Given the description of an element on the screen output the (x, y) to click on. 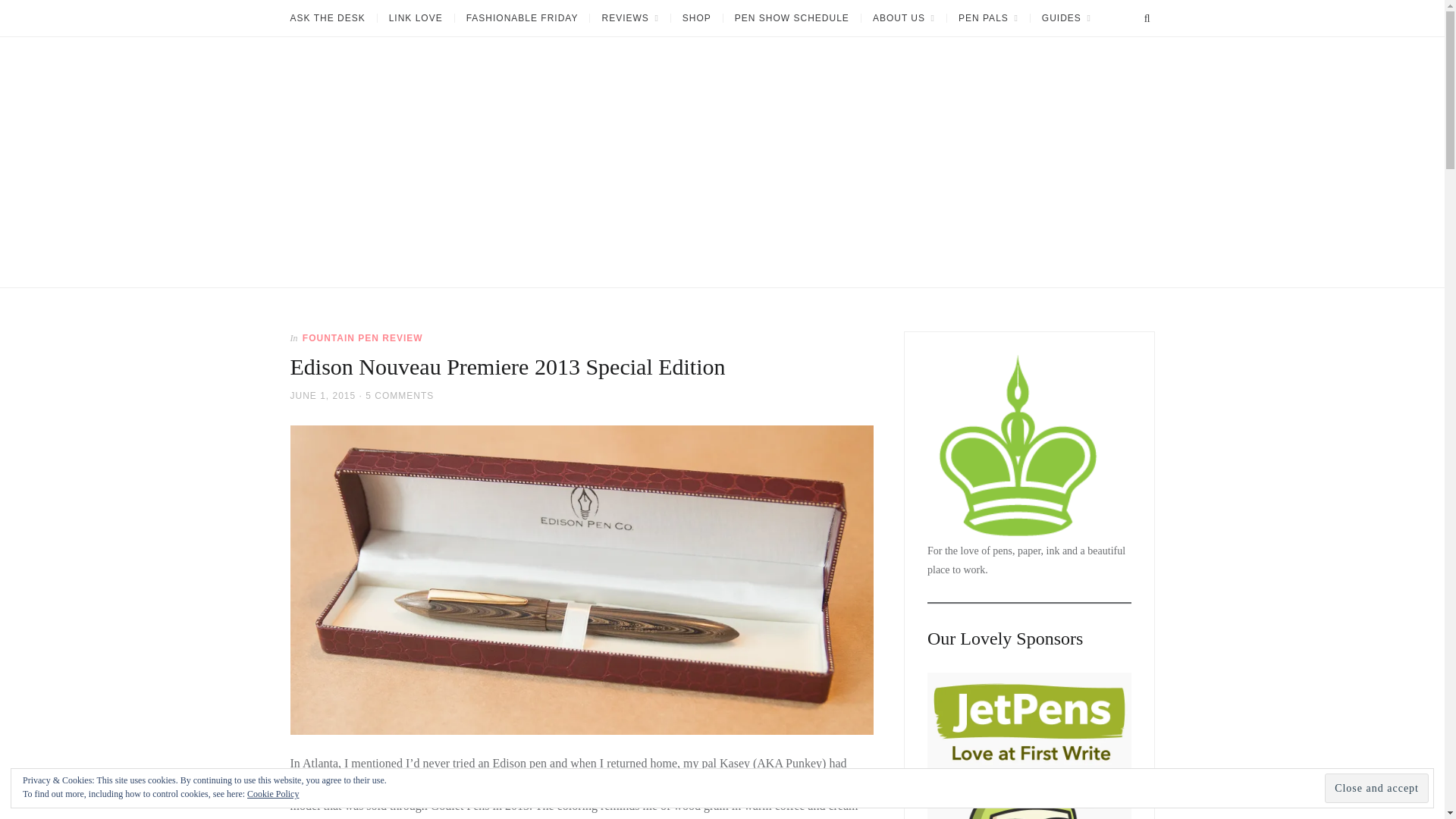
LINK LOVE (415, 17)
ABOUT US (903, 17)
SHOP (695, 17)
FOUNTAIN PEN REVIEW (362, 337)
5 COMMENTS (399, 394)
ASK THE DESK (332, 17)
PEN PALS (987, 17)
JUNE 1, 2015 (322, 394)
FASHIONABLE FRIDAY (521, 17)
GUIDES (1065, 17)
